Given the description of an element on the screen output the (x, y) to click on. 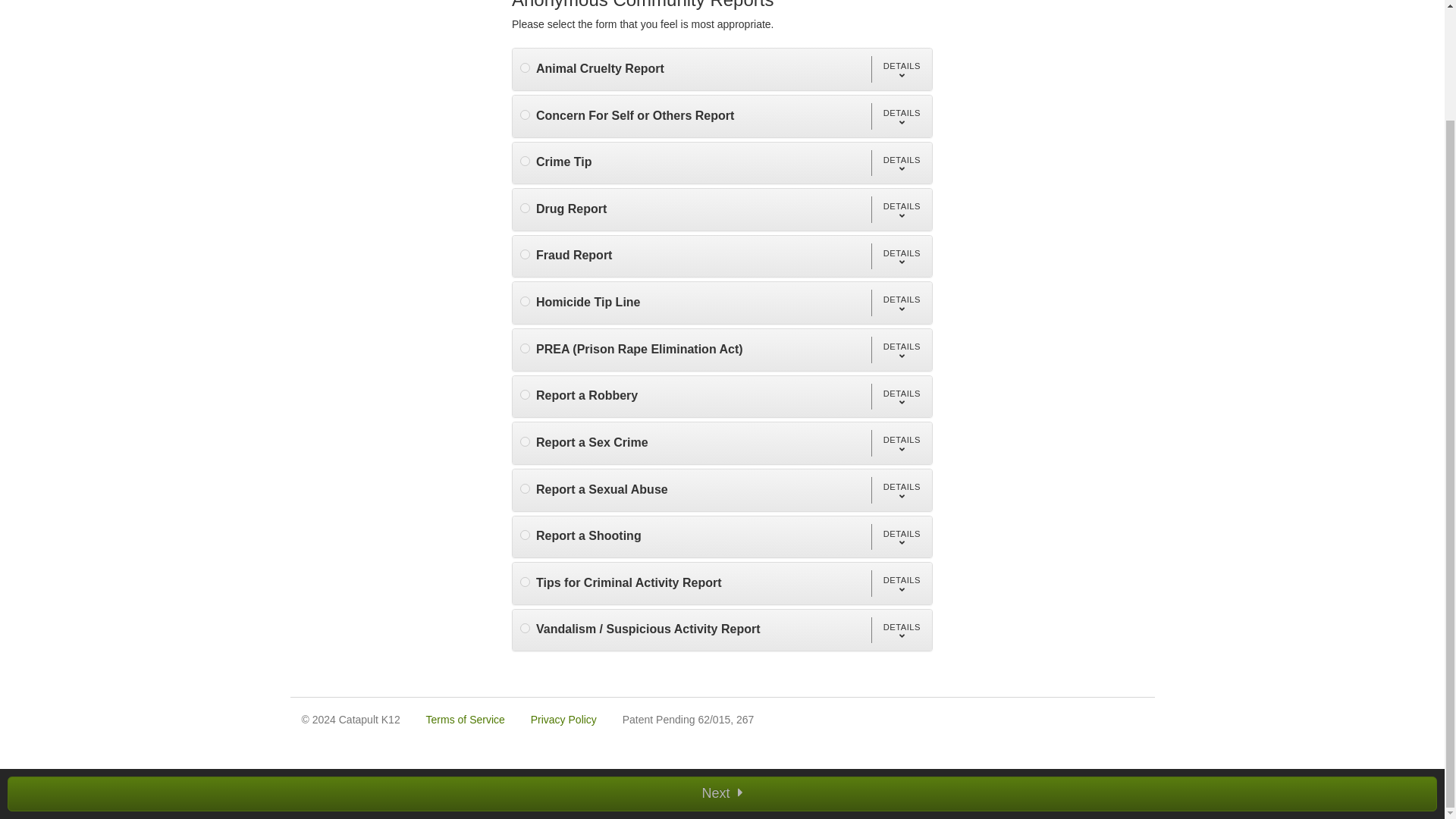
on (524, 534)
DETAILS (900, 349)
Next   (722, 663)
DETAILS (900, 209)
on (524, 67)
DETAILS (900, 256)
on (524, 301)
DETAILS (900, 442)
on (524, 113)
on (524, 441)
DETAILS (900, 116)
DETAILS (900, 162)
on (524, 161)
on (524, 207)
Privacy Policy (563, 719)
